Given the description of an element on the screen output the (x, y) to click on. 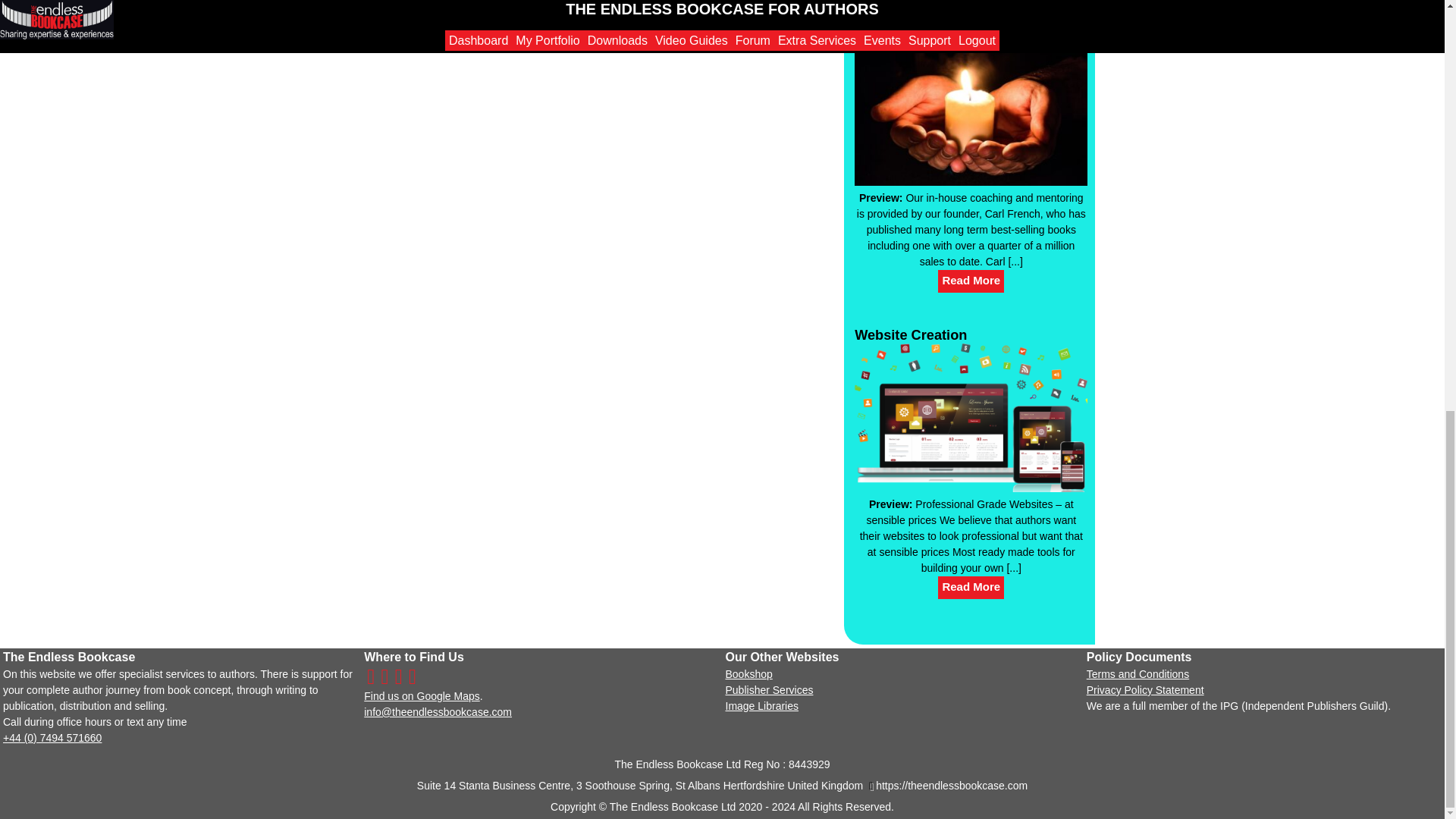
Privacy Policy Statement (1145, 689)
Terms and Conditions (1137, 674)
